Given the description of an element on the screen output the (x, y) to click on. 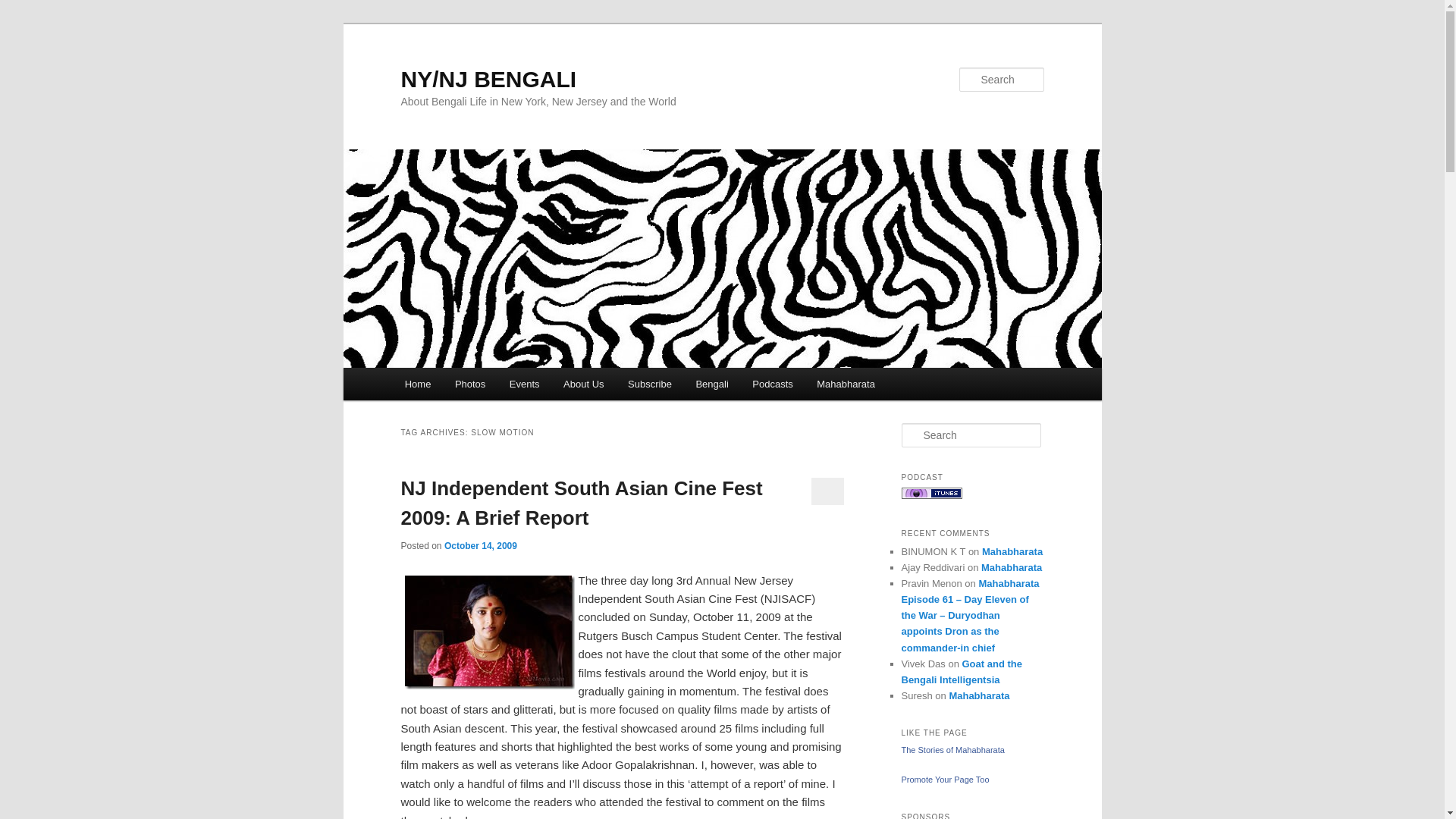
Mahabharata (845, 383)
Search (24, 8)
6:02 pm (480, 545)
Home (417, 383)
Events (524, 383)
Make your own badge! (944, 778)
About Us (583, 383)
Photos (469, 383)
Subscribe (648, 383)
Podcasts (773, 383)
Bengali (712, 383)
NJ Independent South Asian Cine Fest 2009: A Brief Report (580, 502)
October 14, 2009 (480, 545)
The Stories of Mahabharata (952, 749)
